Given the description of an element on the screen output the (x, y) to click on. 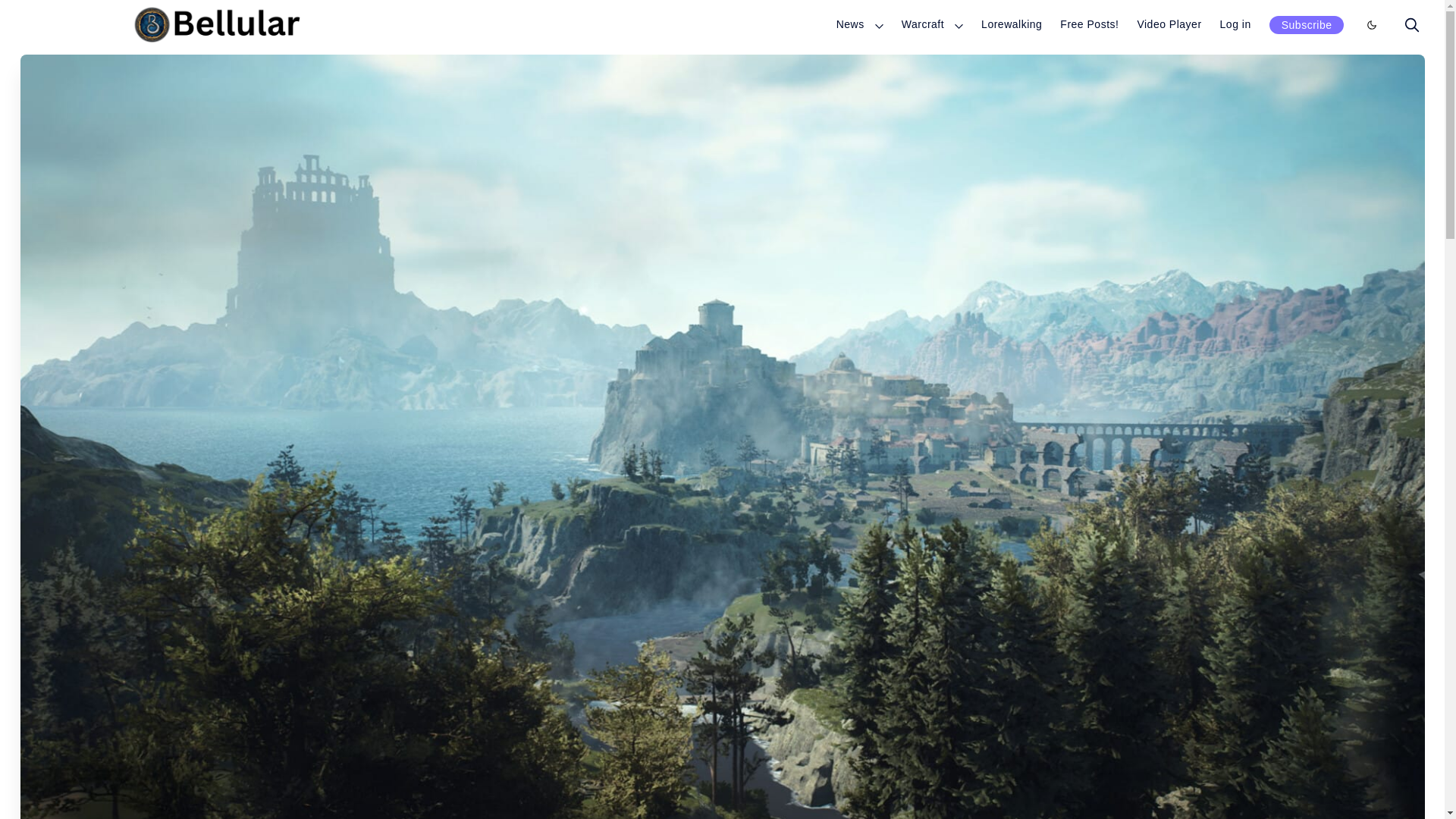
Free Posts! (1088, 24)
Warcraft (922, 24)
Log in (1235, 24)
Video Player (1169, 24)
Enable dark mode (1371, 24)
Enable dark mode (1371, 24)
News (849, 24)
Subscribe (1306, 24)
Lorewalking (1011, 24)
